Given the description of an element on the screen output the (x, y) to click on. 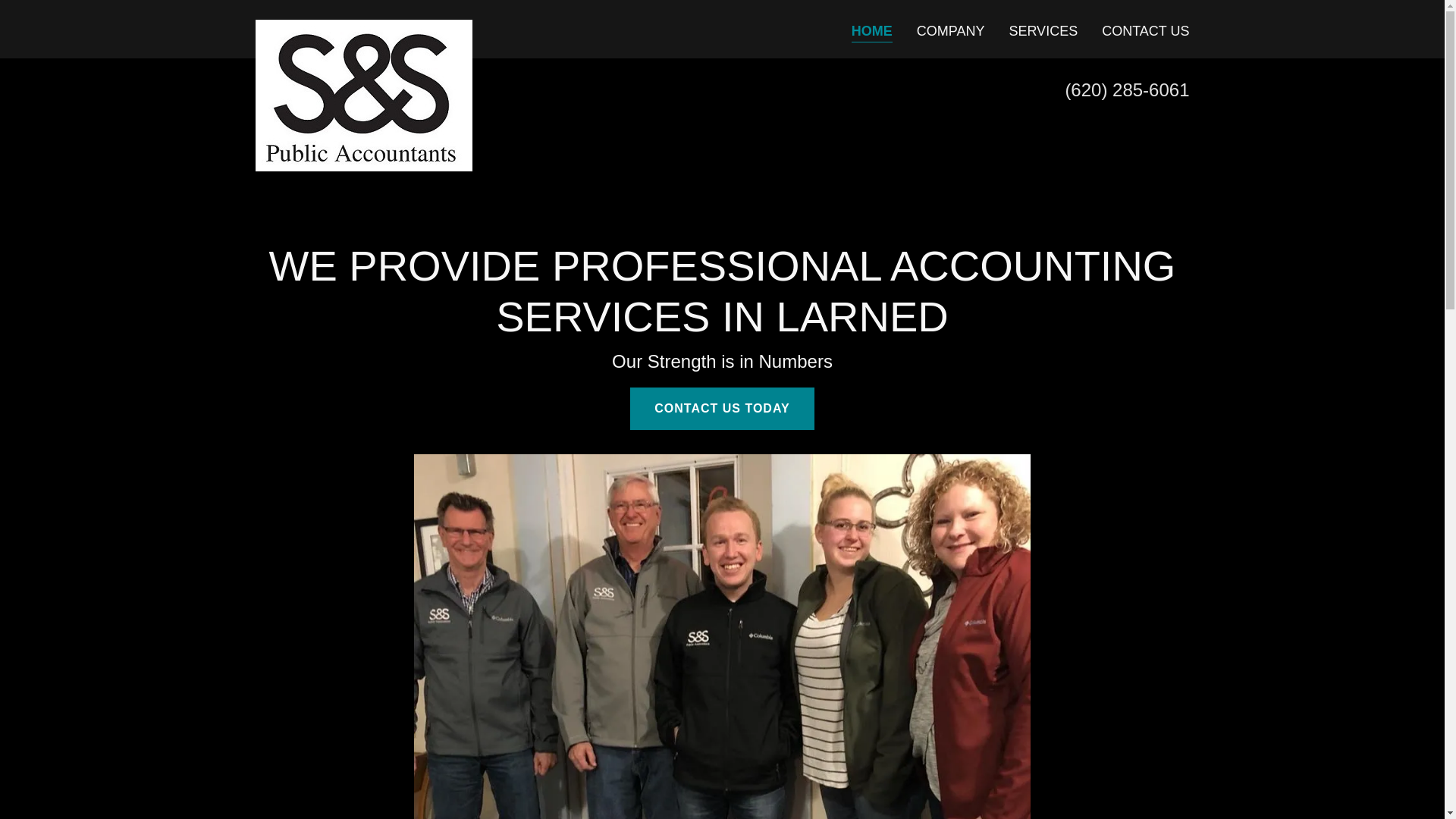
CONTACT US TODAY (721, 408)
SERVICES (1042, 31)
HOME (871, 32)
COMPANY (951, 31)
CONTACT US (1145, 31)
